Given the description of an element on the screen output the (x, y) to click on. 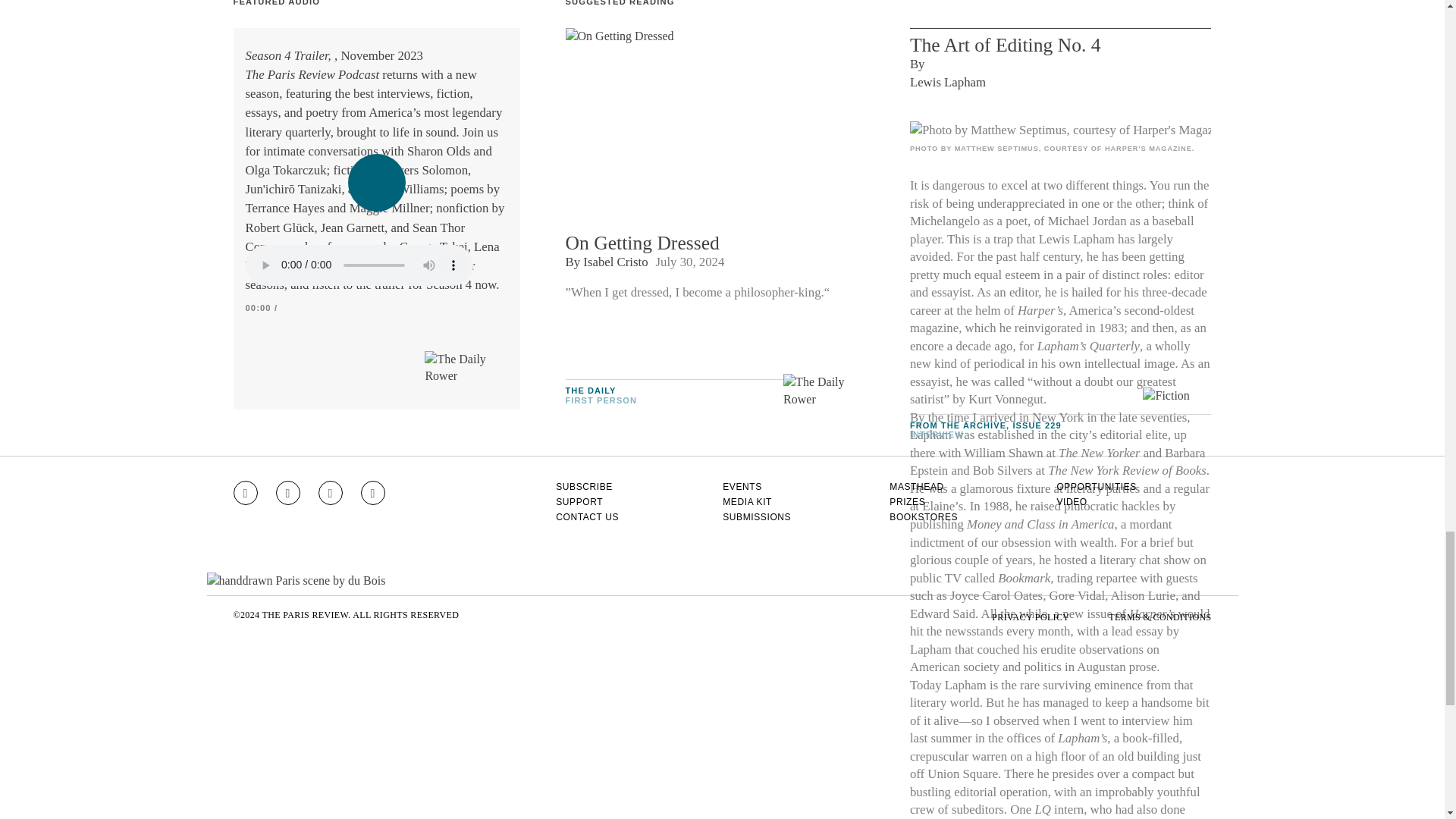
Go to Instagram feed (244, 492)
Go to Facebook page (287, 492)
Go to Twitter feed (330, 492)
undefined (1060, 130)
Go to RSS feed (373, 492)
